Given the description of an element on the screen output the (x, y) to click on. 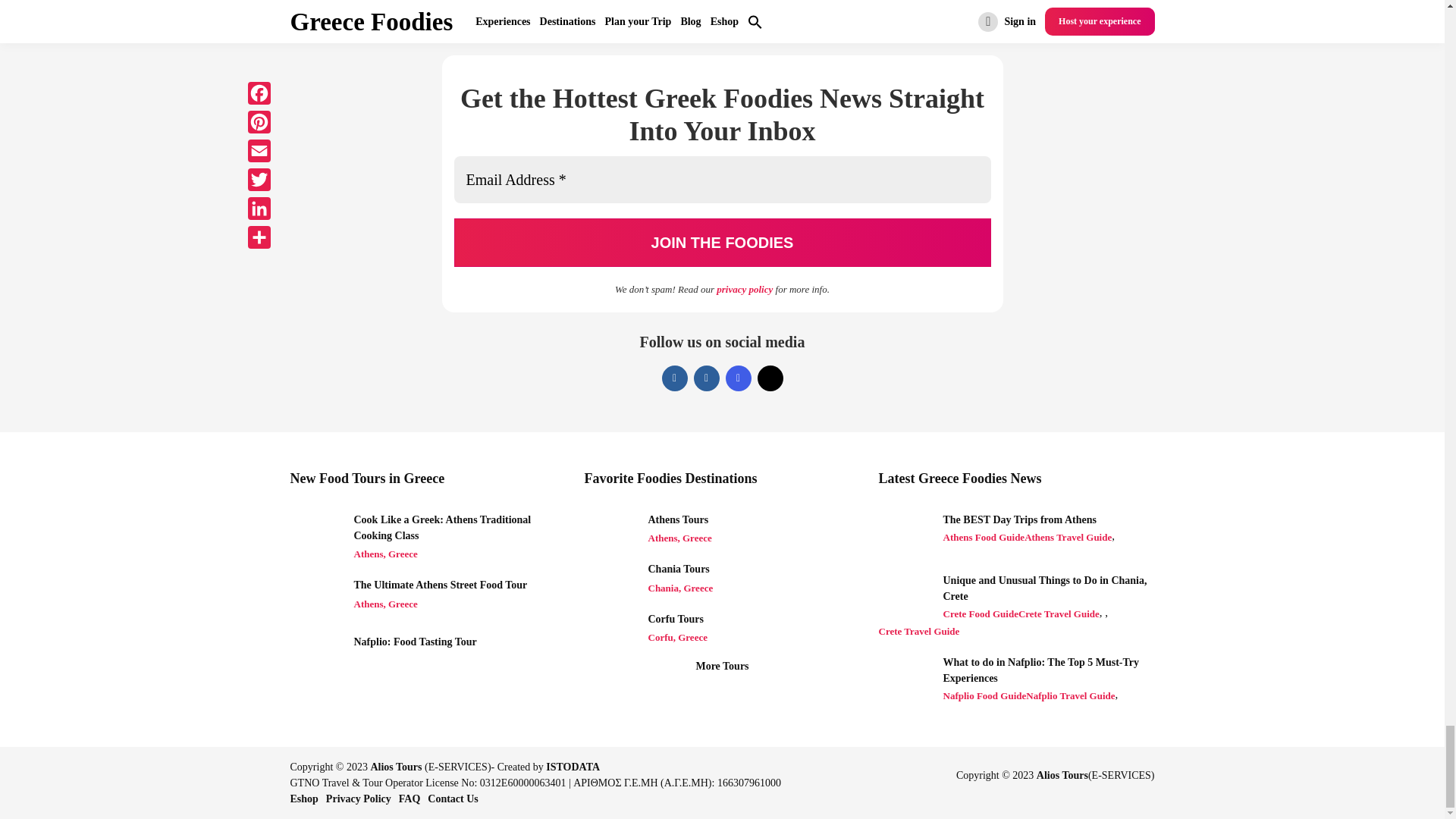
JOIN THE FOODIES (721, 242)
